Given the description of an element on the screen output the (x, y) to click on. 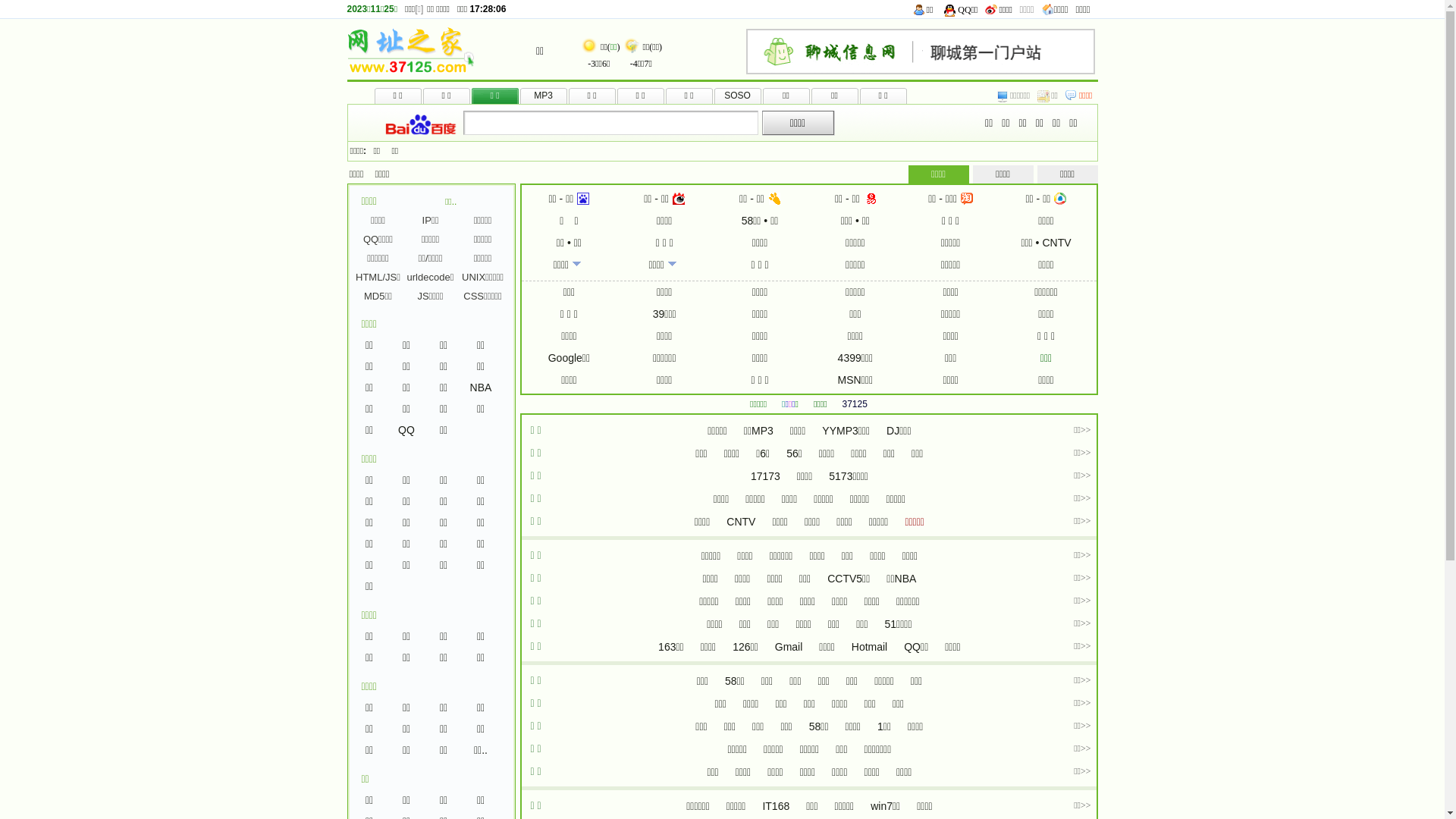
CNTV Element type: text (1055, 242)
37125 Element type: text (854, 403)
NBA Element type: text (481, 387)
QQ Element type: text (406, 429)
Hotmail Element type: text (869, 646)
17173 Element type: text (765, 476)
IT168 Element type: text (775, 806)
CNTV Element type: text (740, 521)
Gmail Element type: text (788, 646)
